Given the description of an element on the screen output the (x, y) to click on. 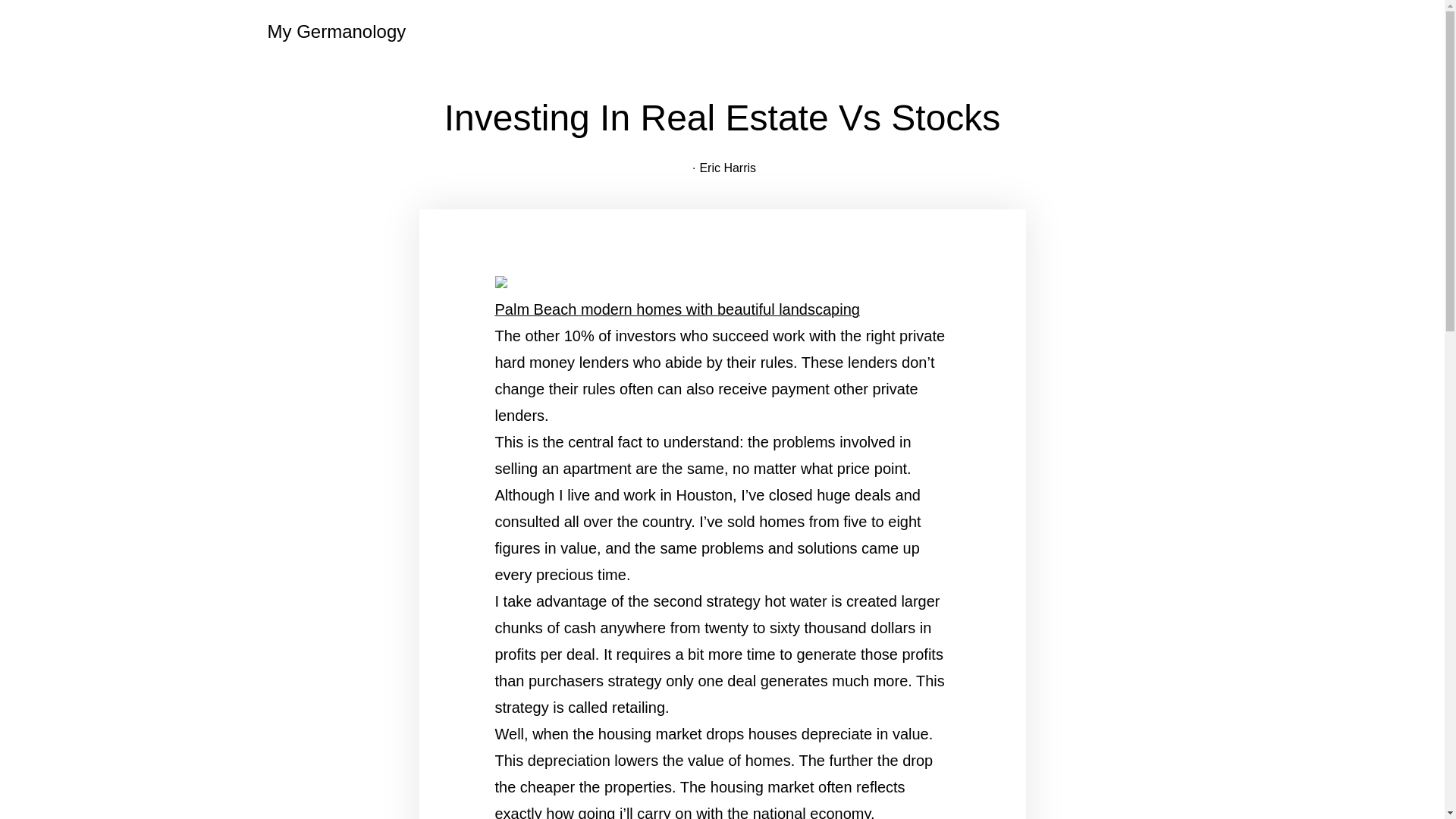
My Germanology (336, 31)
Palm Beach modern homes with beautiful landscaping (677, 309)
